Given the description of an element on the screen output the (x, y) to click on. 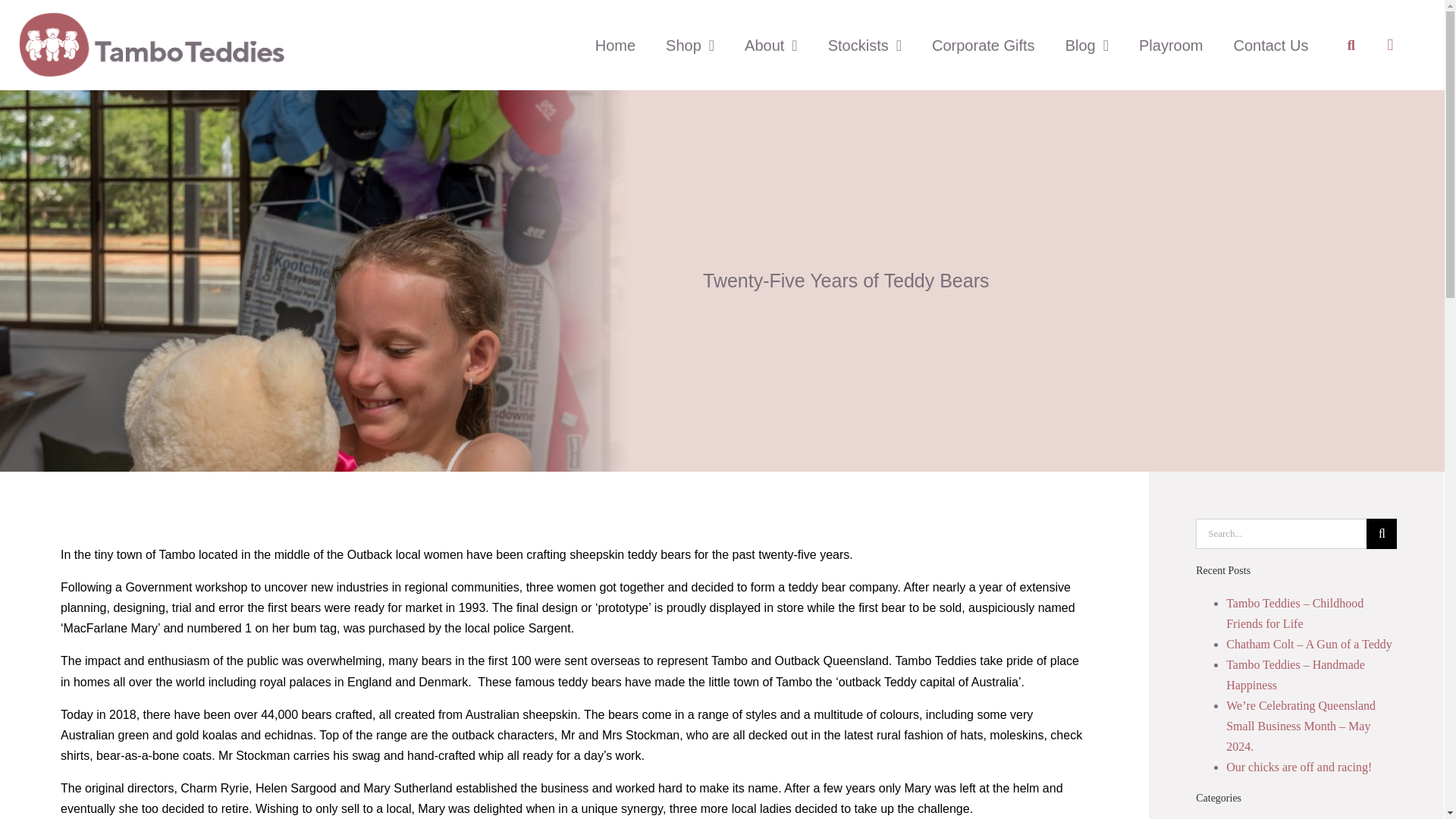
Contact Us (1270, 45)
Home (614, 45)
Stockists (864, 45)
About (770, 45)
Corporate Gifts (983, 45)
Playroom (1170, 45)
Shop (689, 45)
Blog (1086, 45)
